Given the description of an element on the screen output the (x, y) to click on. 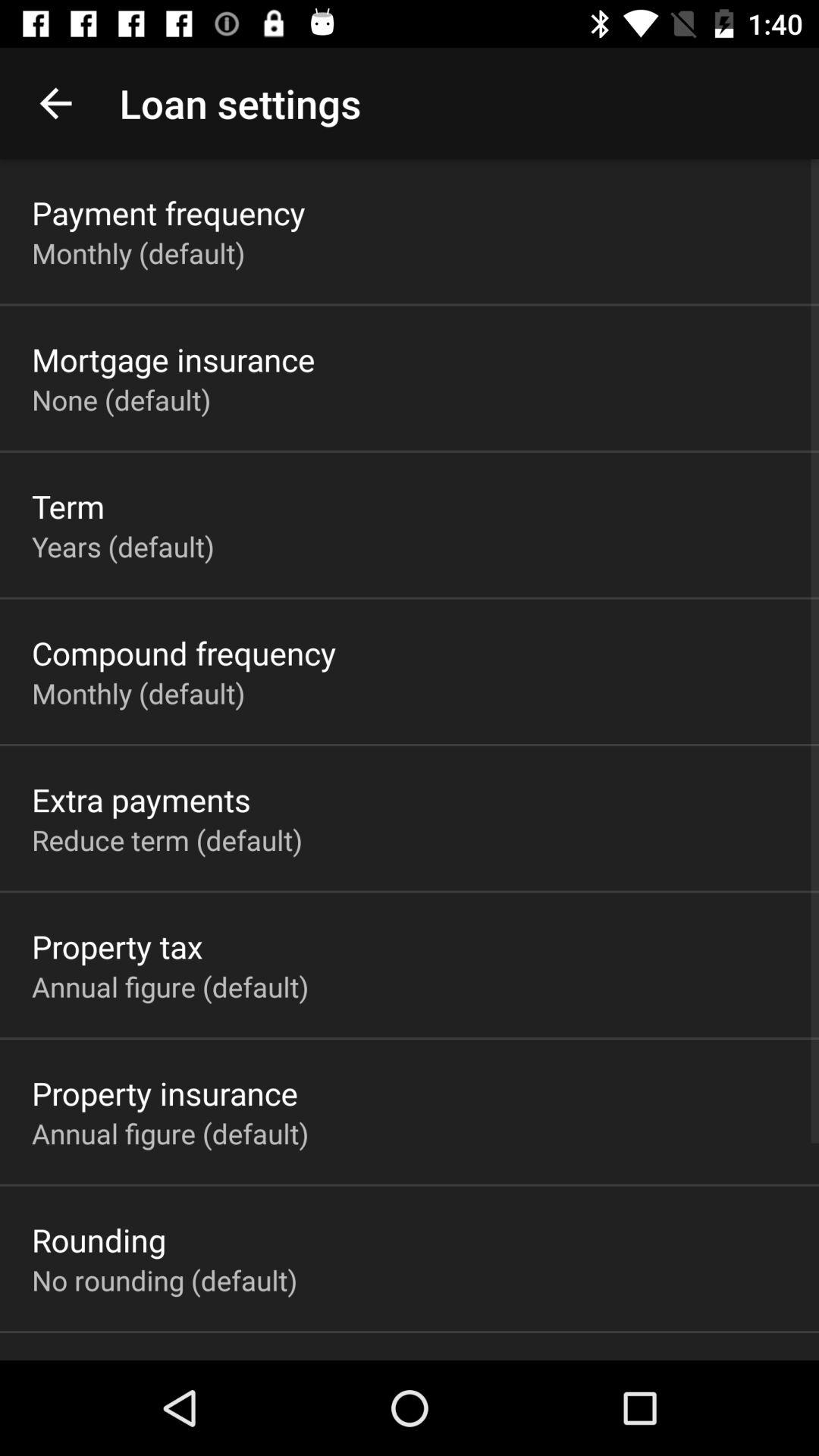
jump to the compound frequency item (183, 652)
